Given the description of an element on the screen output the (x, y) to click on. 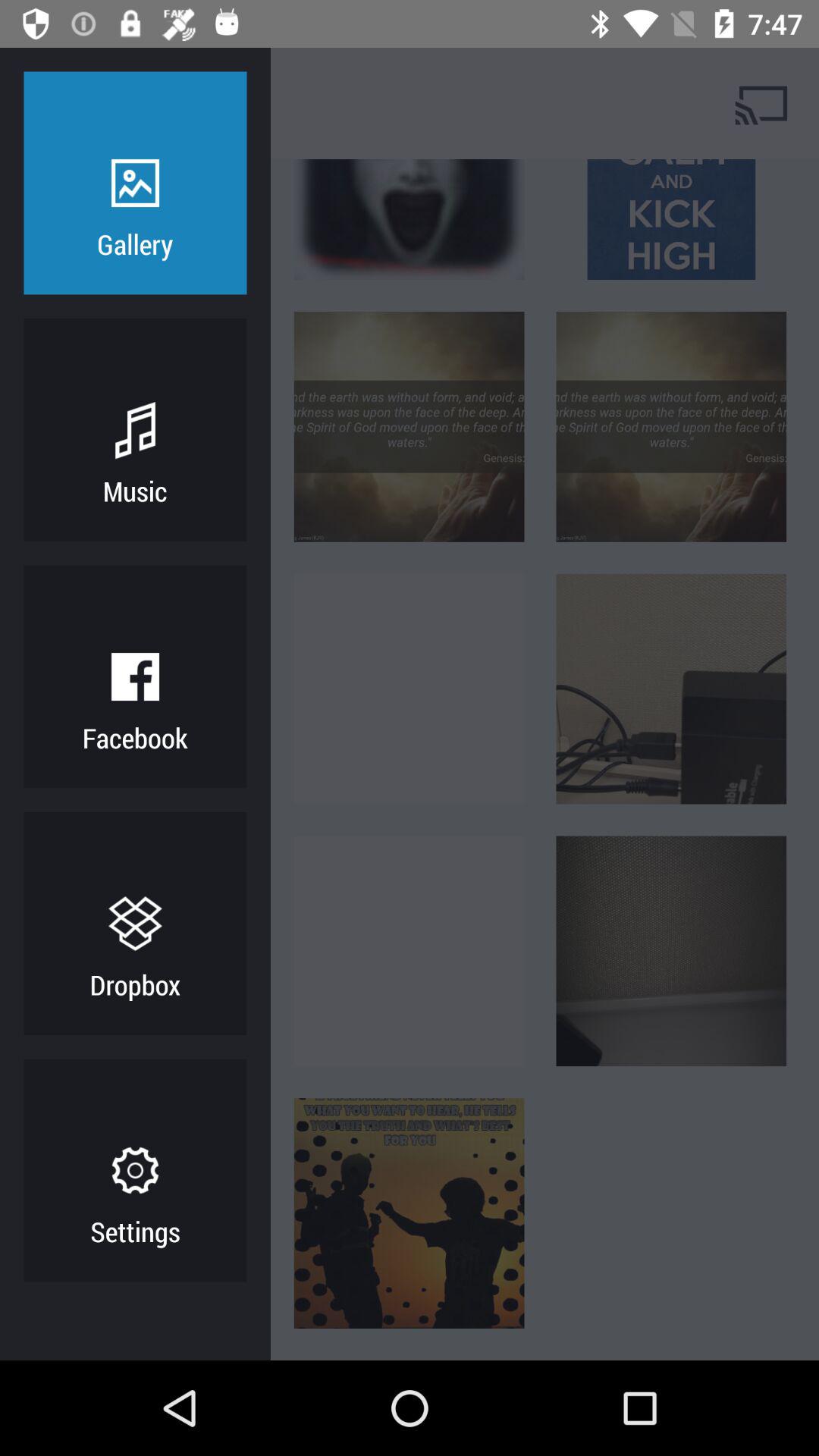
swipe until the photos icon (193, 103)
